Given the description of an element on the screen output the (x, y) to click on. 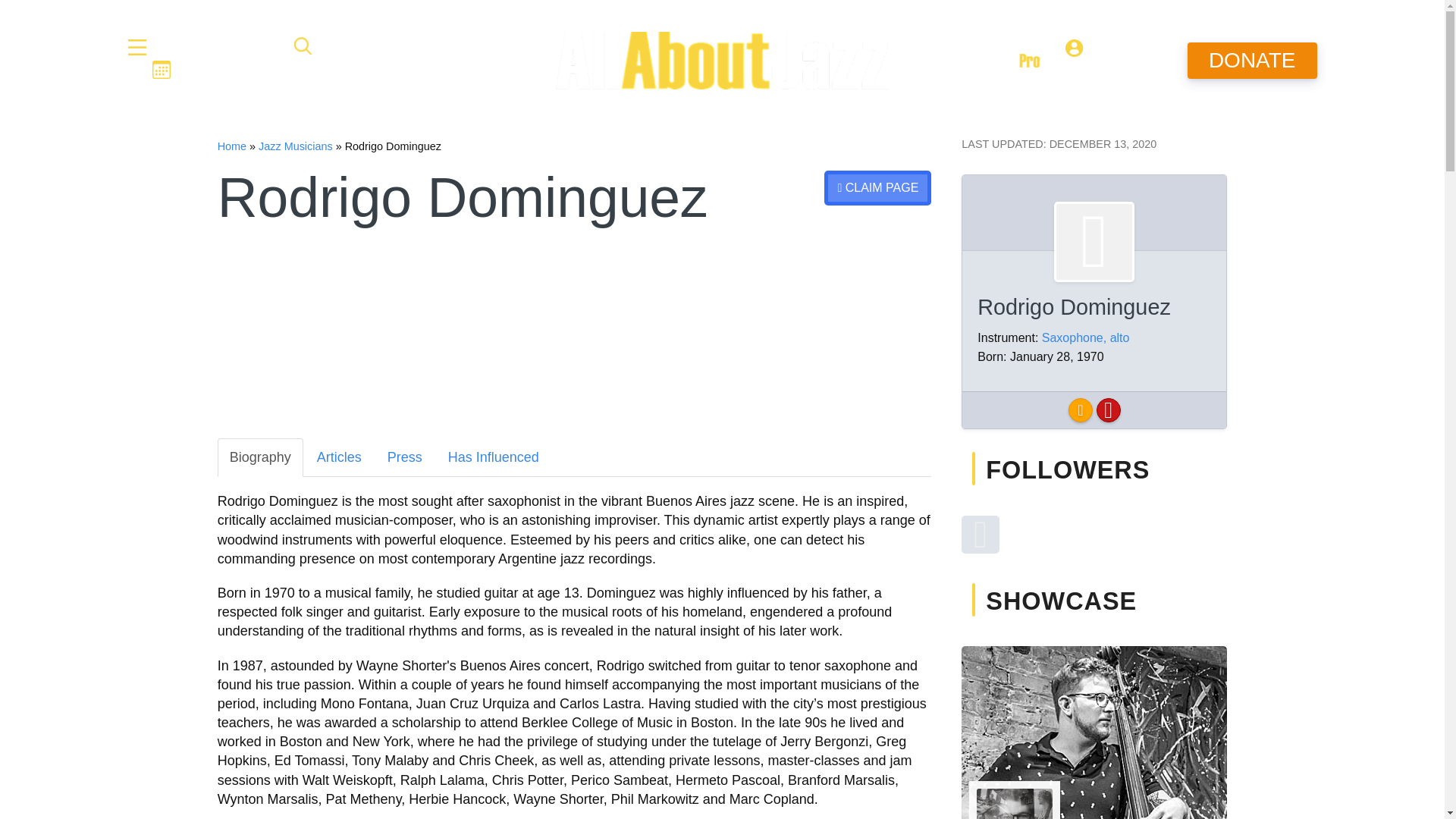
SIGN IN UP (1114, 60)
EXPLORE (212, 47)
All About Jazz Pro (1018, 60)
Click Here to Return to the All About Jazz Home Page (231, 146)
Search All About Jazz by category (351, 47)
SEARCH (351, 47)
NEAR YOU (220, 71)
Welcome to All About Jazz! (722, 60)
Press (404, 457)
Explore the vast grandeur of All About Jazz (212, 47)
